Given the description of an element on the screen output the (x, y) to click on. 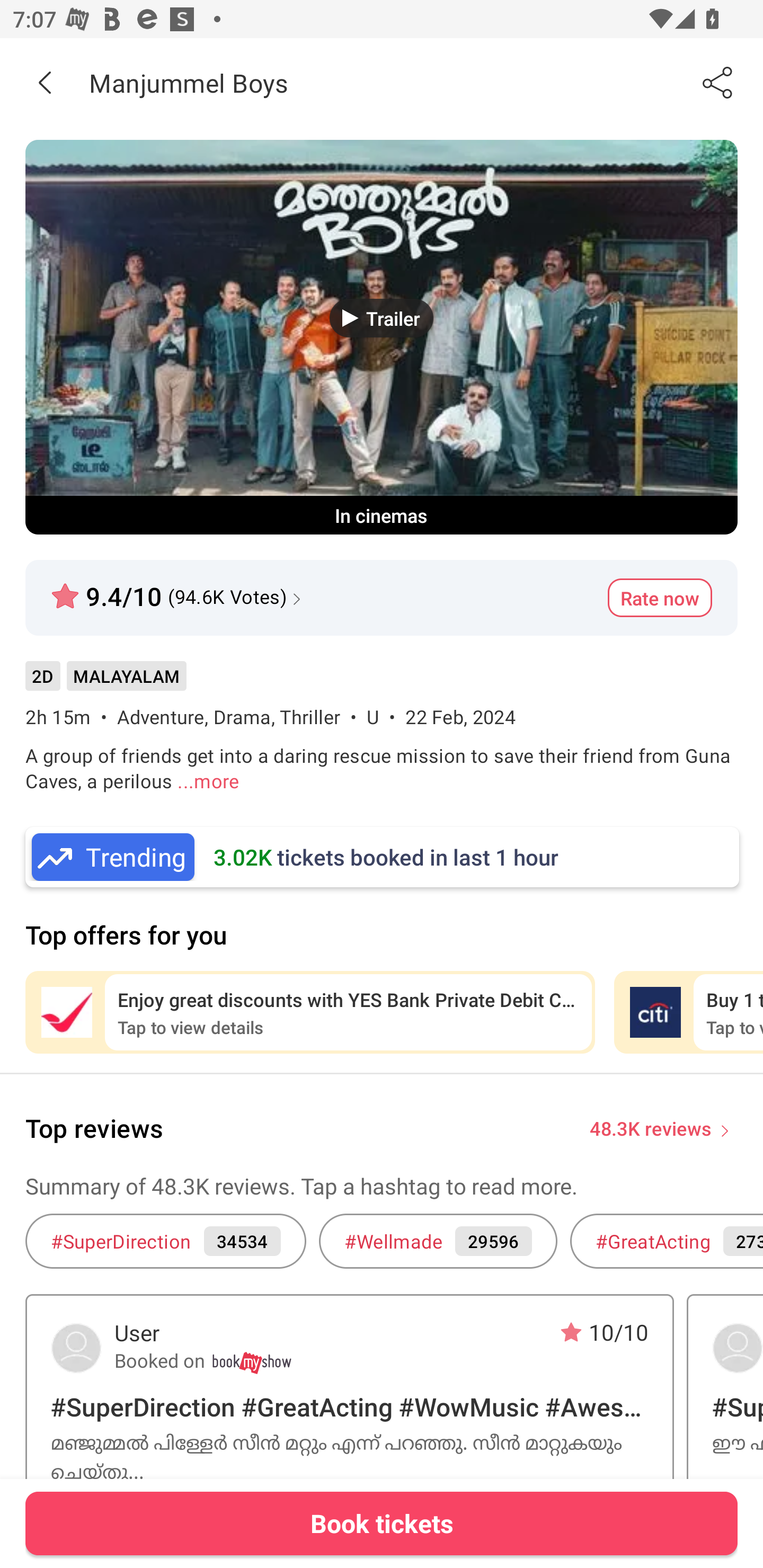
Back (44, 82)
Share (718, 82)
Movie Banner Trailer In cinemas (381, 336)
Trailer (381, 318)
9.4/10 (94.6K Votes) (178, 589)
Rate now (659, 597)
2D MALAYALAM (105, 682)
48.3K reviews (650, 1127)
#SuperDirection 34534 (165, 1240)
#Wellmade 29596 (437, 1240)
#GreatActing 27315 (666, 1240)
Book tickets (381, 1523)
